Given the description of an element on the screen output the (x, y) to click on. 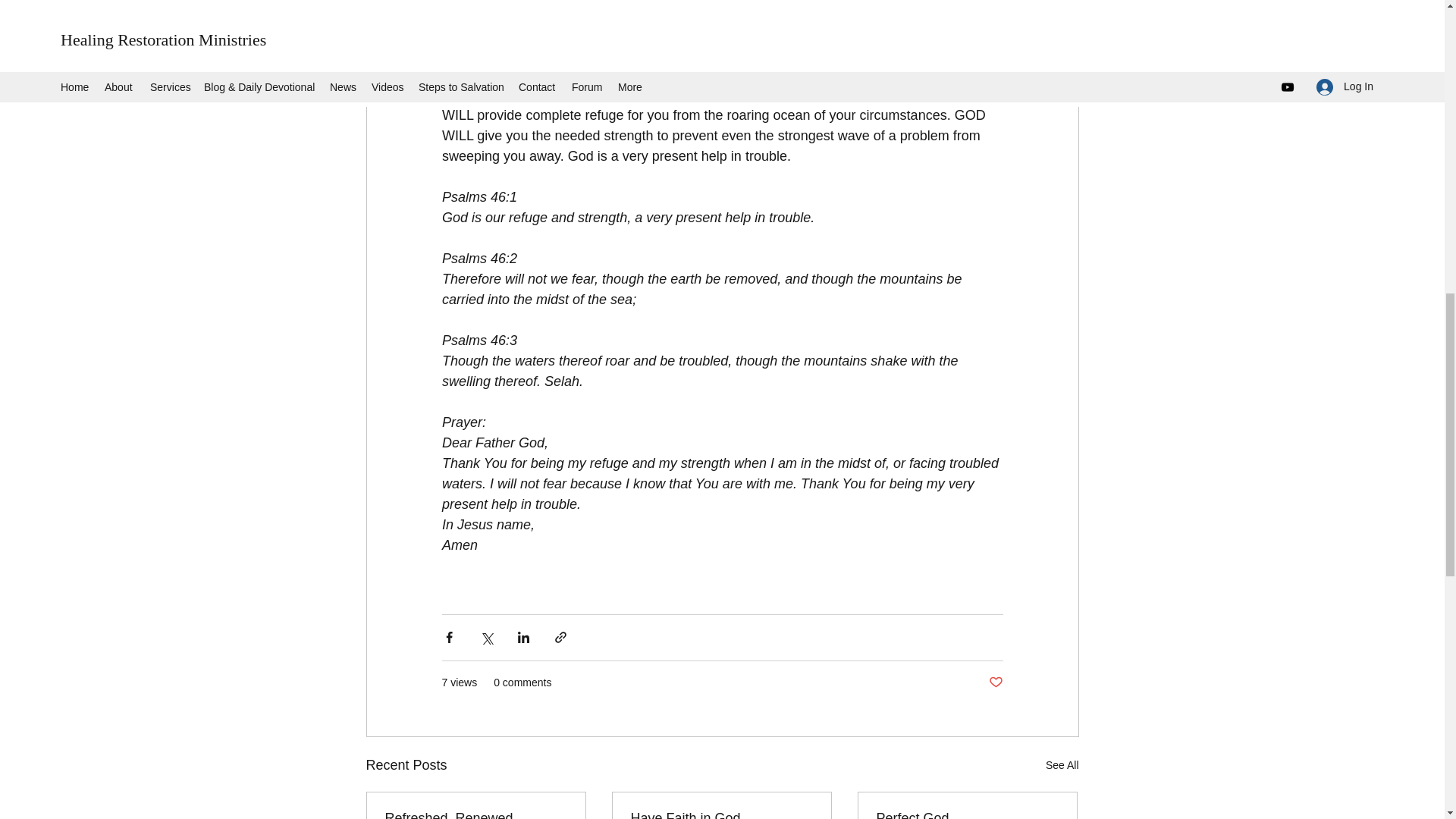
Have Faith in God (721, 814)
Perfect God (967, 814)
See All (1061, 765)
Refreshed, Renewed, Restored (476, 814)
Post not marked as liked (995, 682)
